Given the description of an element on the screen output the (x, y) to click on. 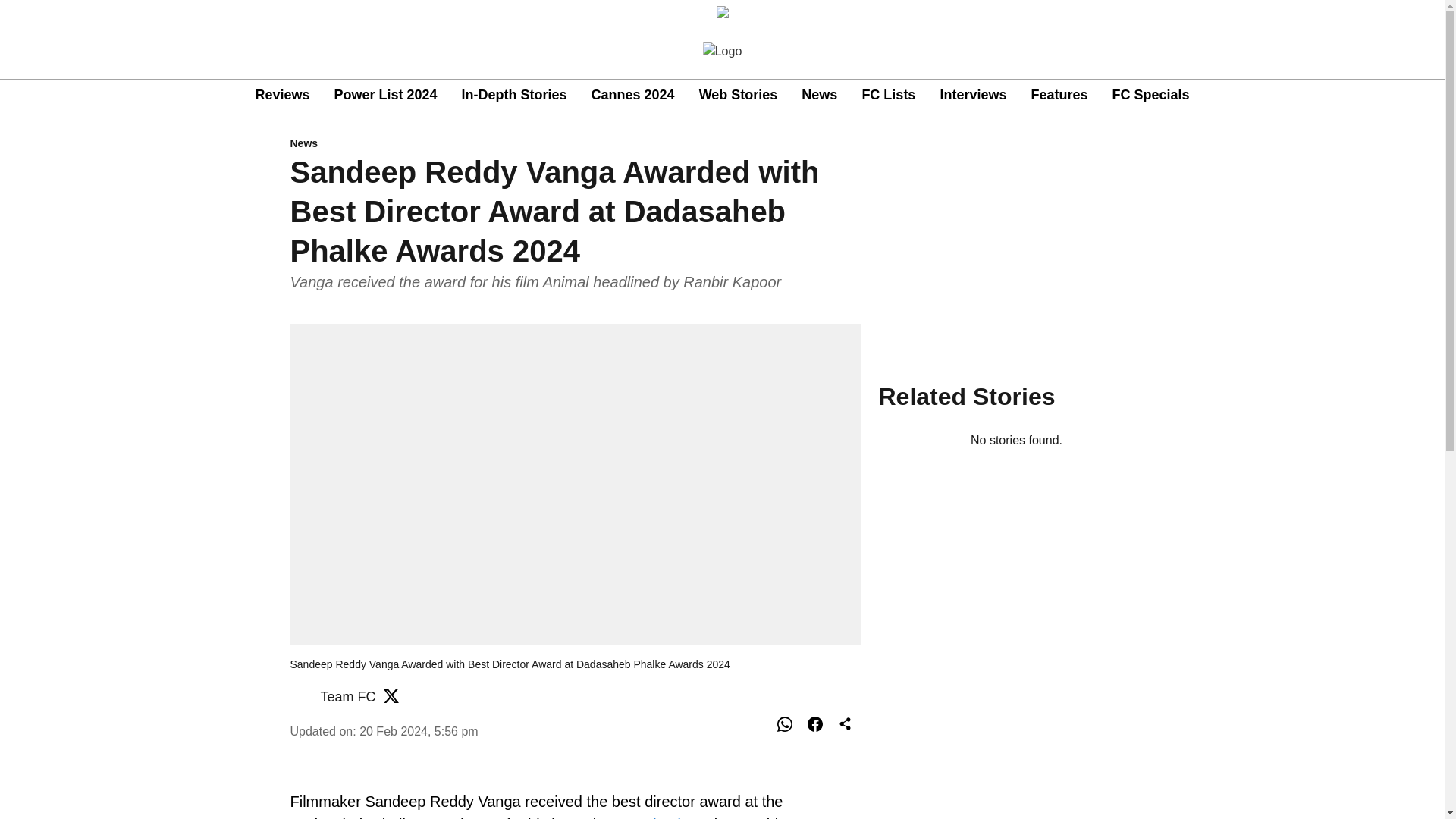
Power List 2024 (384, 95)
Web Stories (737, 95)
Reviews (281, 95)
Interviews (972, 95)
FC Lists (888, 95)
News (819, 95)
Features (1058, 95)
In-Depth Stories (514, 95)
Cannes 2024 (633, 95)
